Given the description of an element on the screen output the (x, y) to click on. 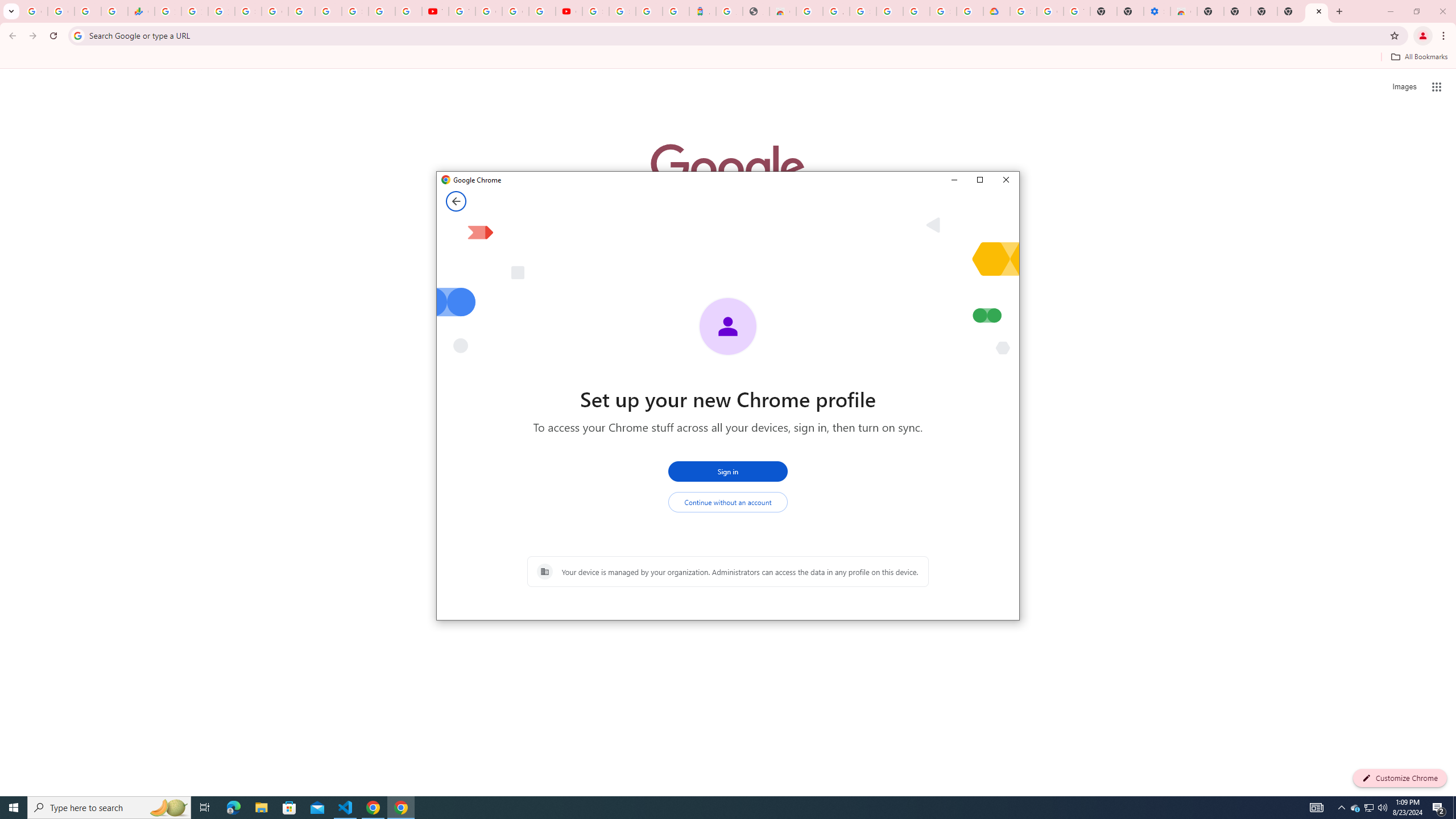
YouTube (462, 11)
Bookmarks (728, 58)
Sign in - Google Accounts (943, 11)
New Tab (1290, 11)
User Promoted Notification Area (1368, 807)
Atour Hotel - Google hotels (702, 11)
